Given the description of an element on the screen output the (x, y) to click on. 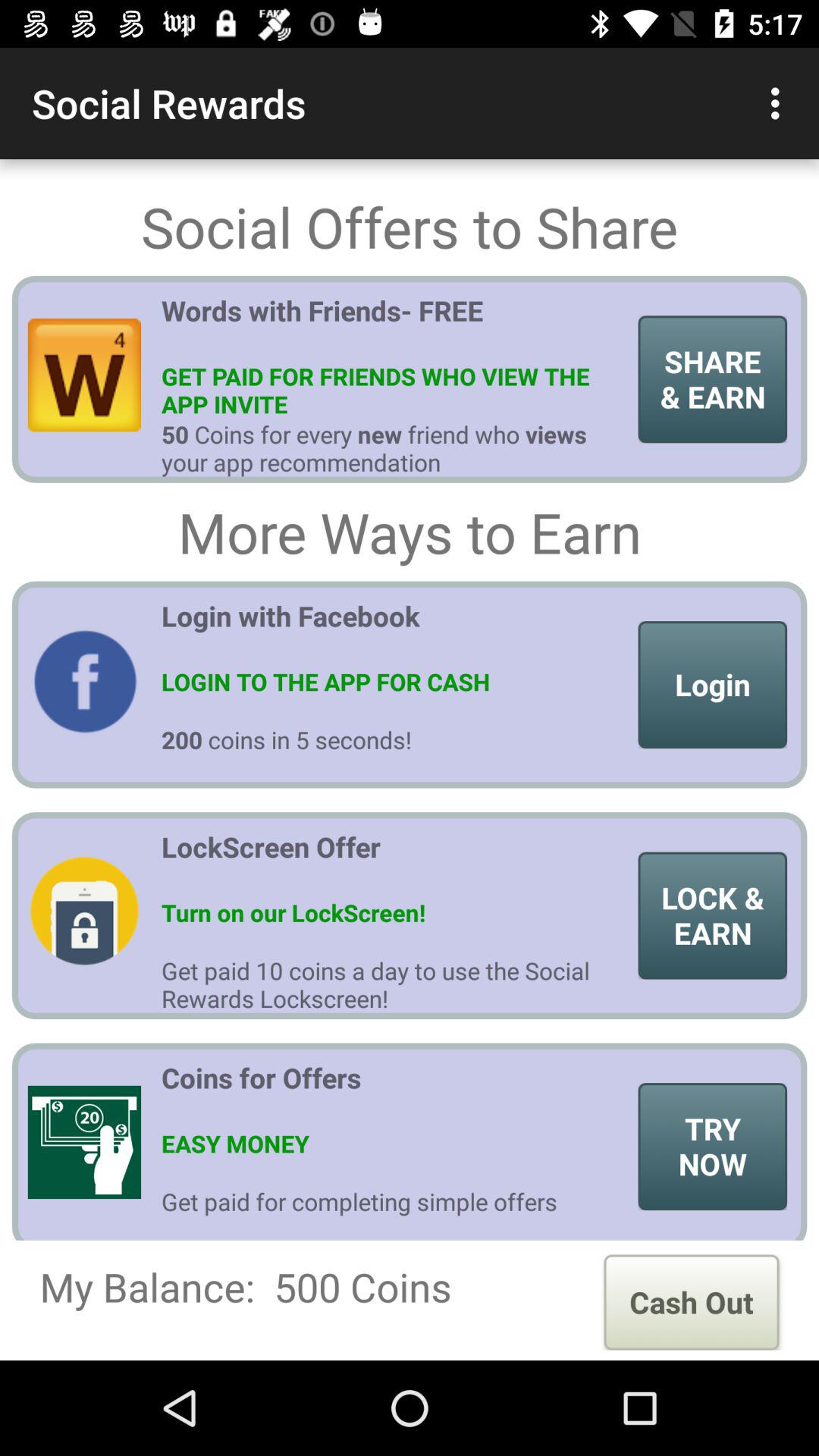
click item to the right of words with friends (712, 379)
